Given the description of an element on the screen output the (x, y) to click on. 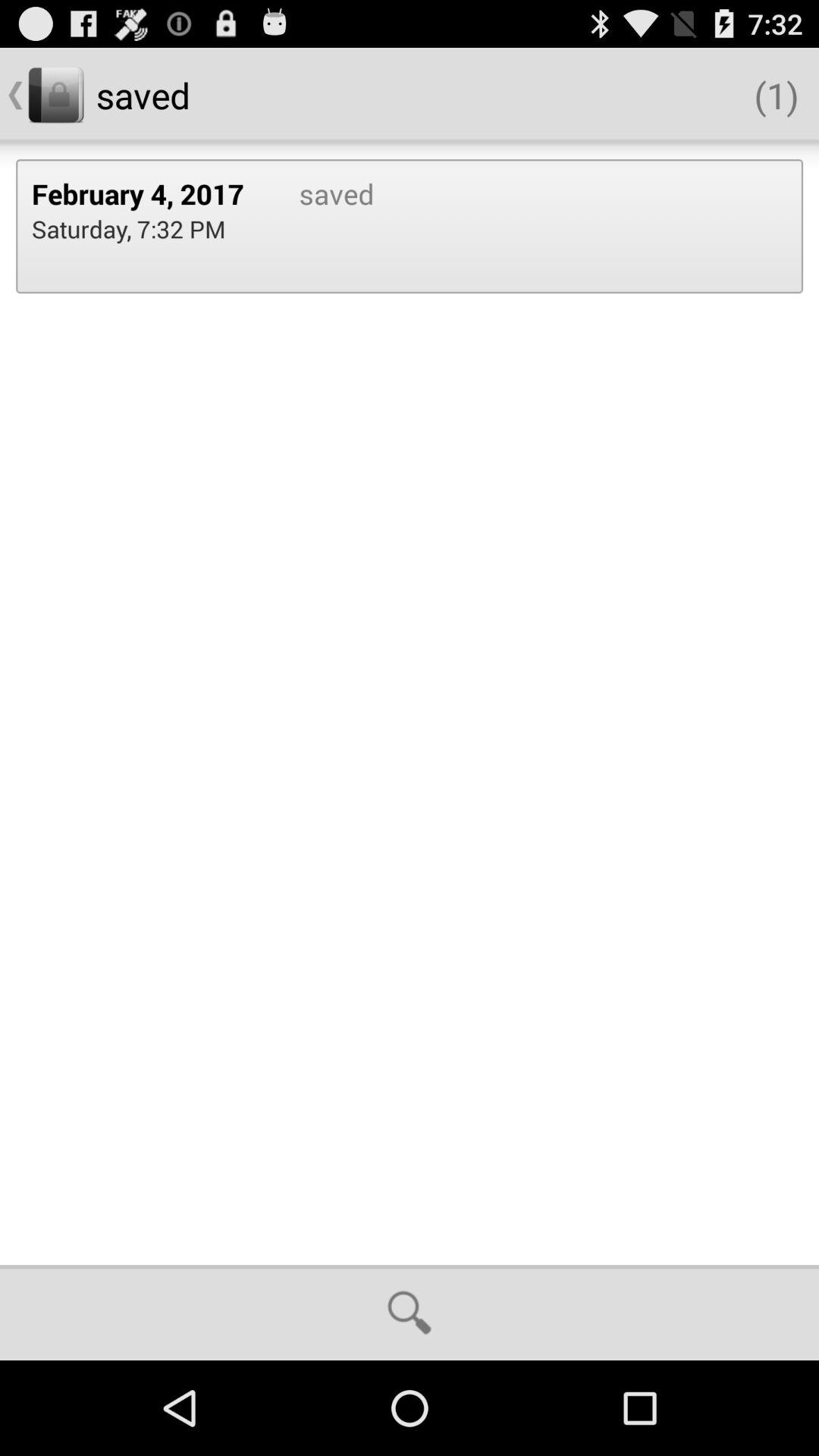
jump until the saturday 7 32 item (128, 228)
